Given the description of an element on the screen output the (x, y) to click on. 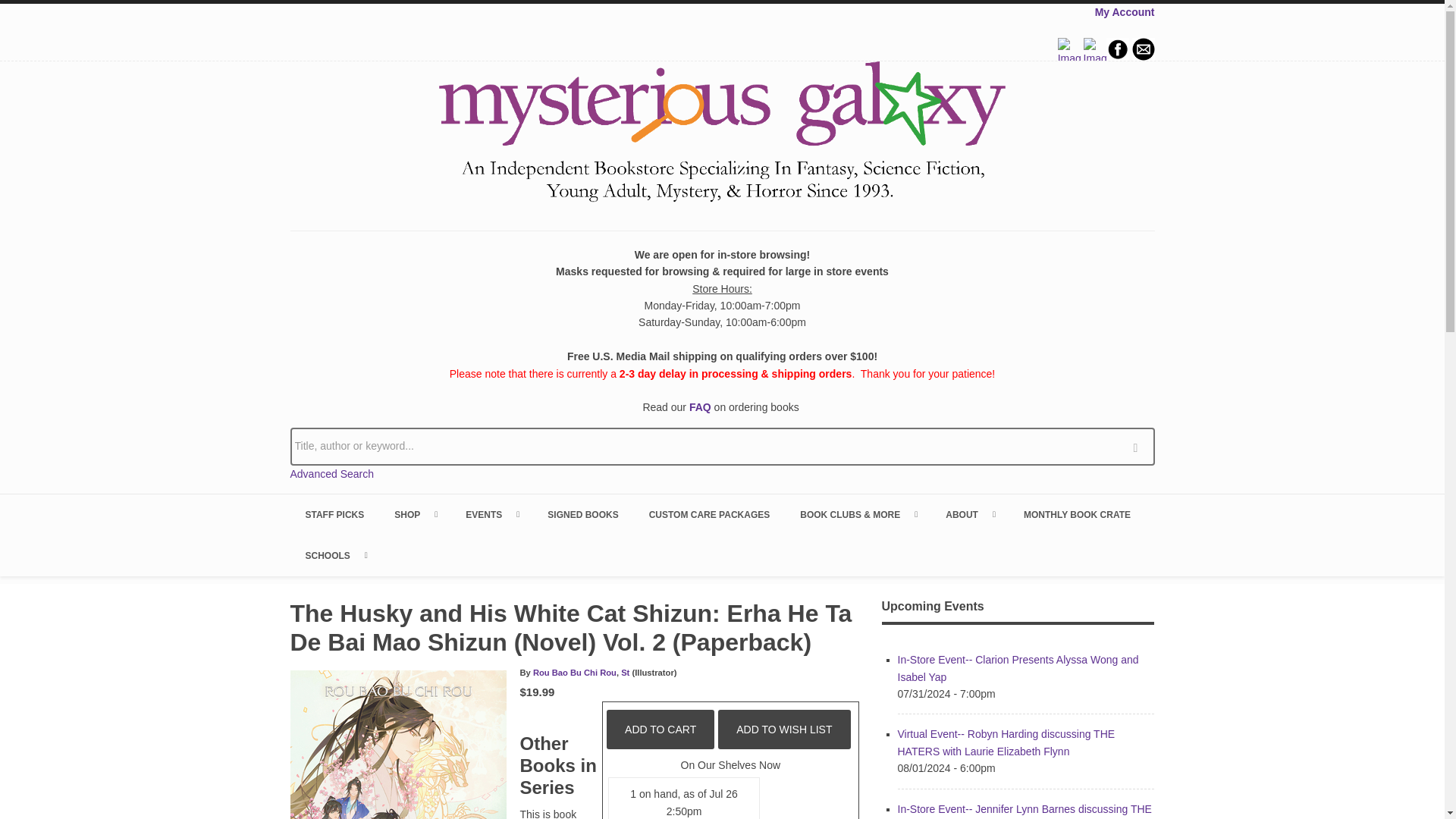
Title, author or keyword... (721, 446)
Add to Cart (660, 729)
STAFF PICKS (333, 514)
EVENTS (490, 514)
search (1139, 446)
Home (722, 134)
SHOP (413, 514)
search (1139, 446)
My Account (1124, 11)
Add to Wish List (783, 729)
FAQ (699, 407)
Advanced Search (331, 473)
